Given the description of an element on the screen output the (x, y) to click on. 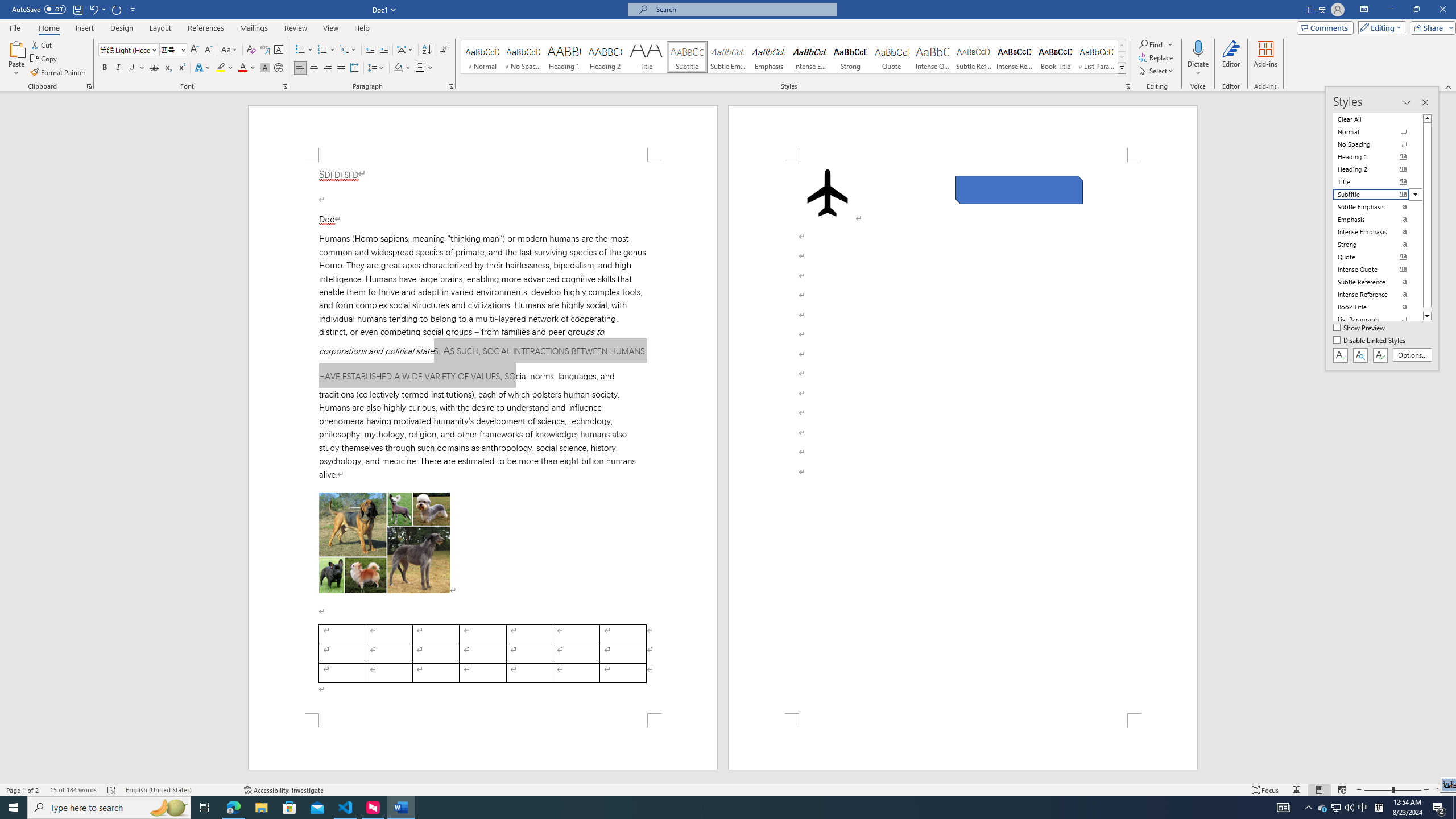
Row Down (1121, 56)
Print Layout (1318, 790)
Decrease Indent (370, 49)
Close (1442, 9)
Paragraph... (450, 85)
Subtle Reference (973, 56)
Emphasis (768, 56)
Class: NetUIScrollBar (1450, 437)
Customize Quick Access Toolbar (133, 9)
Heading 1 (564, 56)
Font Color (246, 67)
Zoom 104% (1443, 790)
Paste (16, 48)
Font Size (172, 49)
Restore Down (1416, 9)
